Given the description of an element on the screen output the (x, y) to click on. 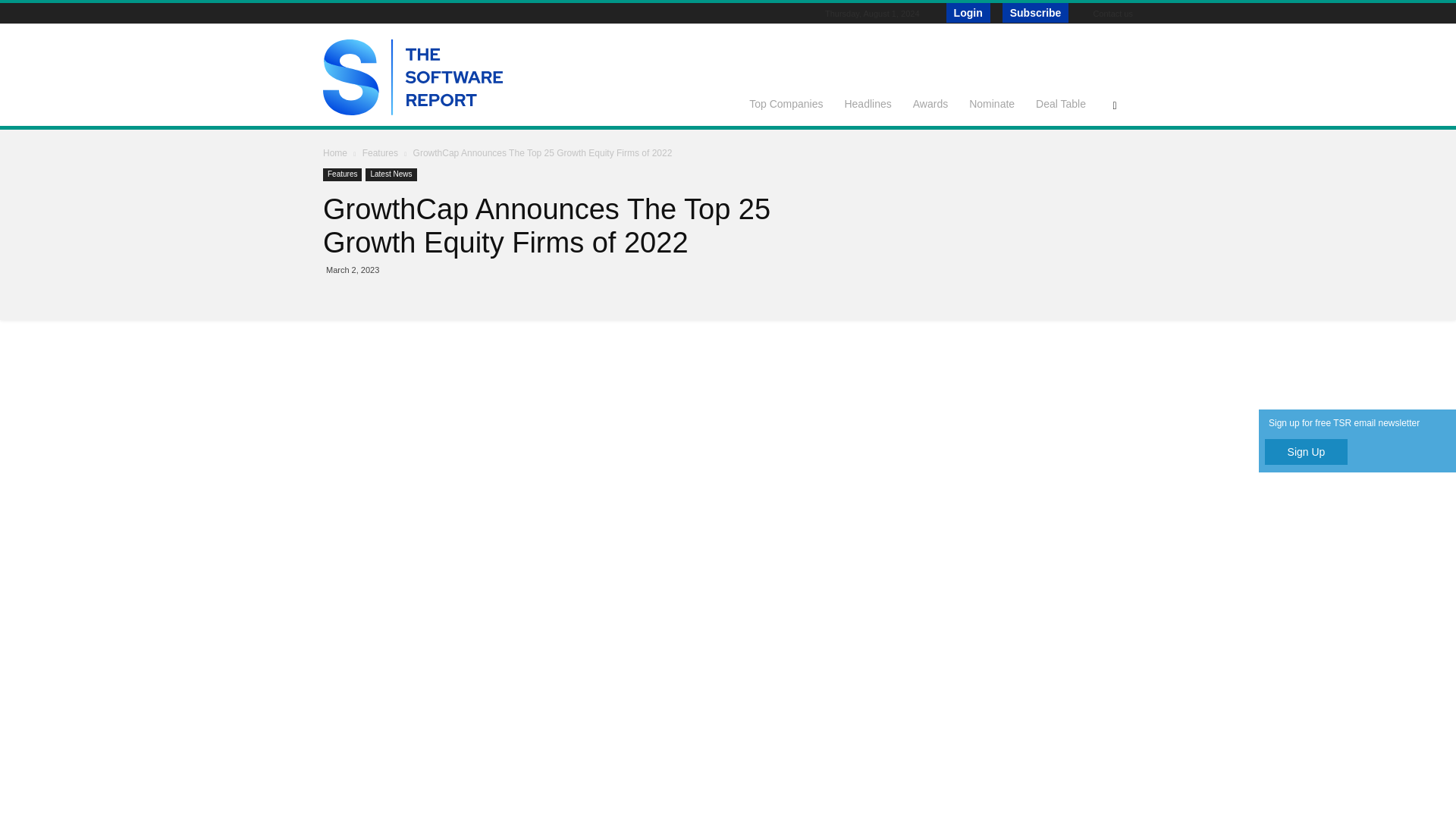
Awards (930, 103)
Headlines (866, 103)
Top Companies (785, 103)
Contact us (1112, 13)
Login (968, 12)
The Software Report (412, 111)
Features (342, 174)
Subscribe (1035, 12)
View all posts in Features (381, 153)
Home (335, 153)
